Given the description of an element on the screen output the (x, y) to click on. 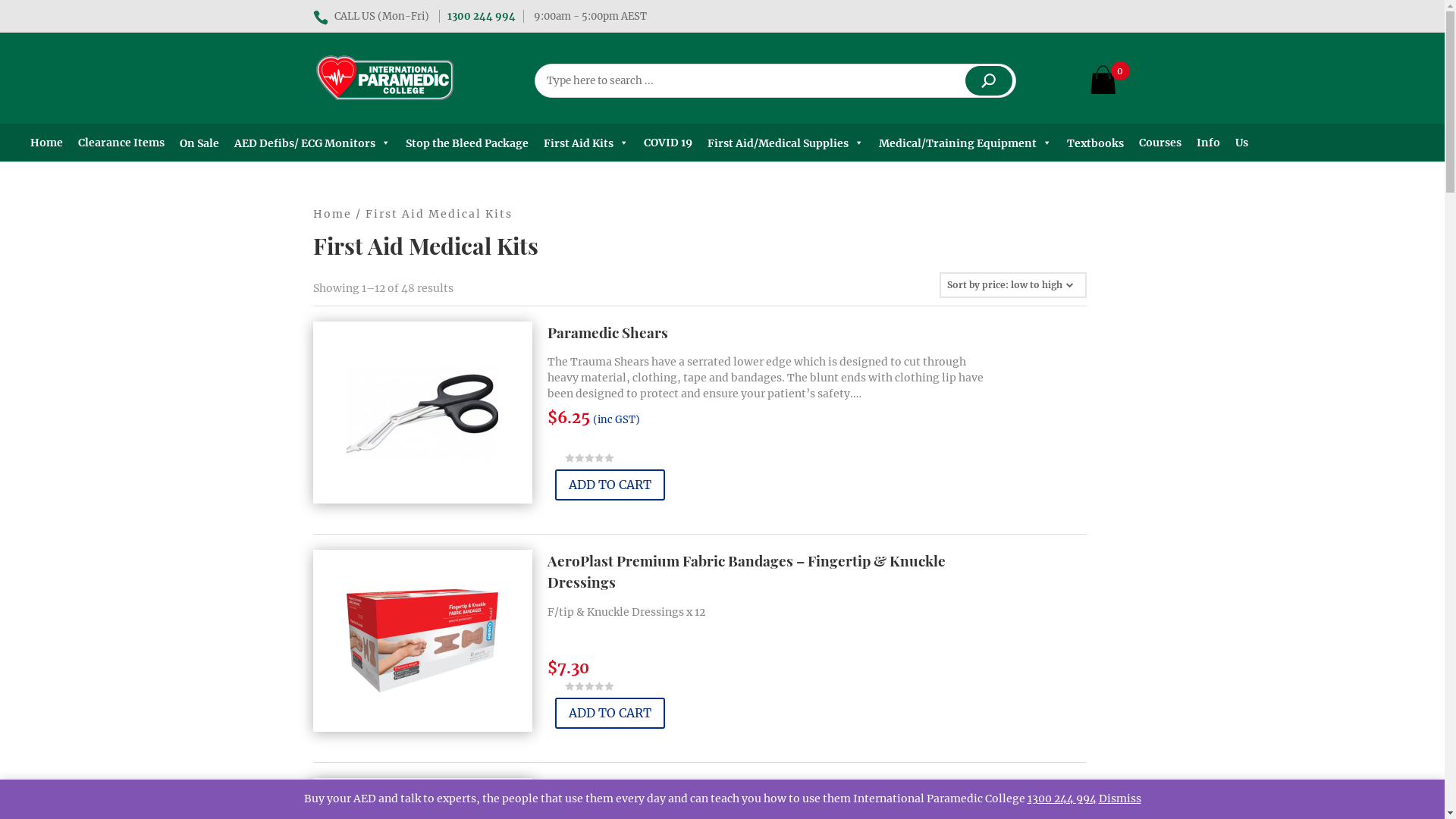
Snake Bite Bandage with Indicator Element type: text (662, 789)
0 Element type: text (1103, 83)
Us Element type: text (1241, 142)
ADD TO CART Element type: text (610, 484)
Stop the Bleed Package Element type: text (467, 142)
Paramedic Shears Element type: text (607, 332)
1300 244 994 Element type: text (480, 15)
First Aid Kits Element type: text (586, 142)
Medical/Training Equipment Element type: text (965, 142)
1300 244 994 Element type: text (1060, 798)
Home Element type: text (331, 213)
Dismiss Element type: text (1119, 798)
On Sale Element type: text (199, 142)
AED Defibs/ ECG Monitors Element type: text (312, 142)
COVID 19 Element type: text (667, 142)
Courses Element type: text (1160, 142)
Clearance Items Element type: text (121, 142)
ADD TO CART Element type: text (610, 712)
Info Element type: text (1208, 142)
First Aid/Medical Supplies Element type: text (785, 142)
Home Element type: text (46, 142)
Textbooks Element type: text (1095, 142)
